Given the description of an element on the screen output the (x, y) to click on. 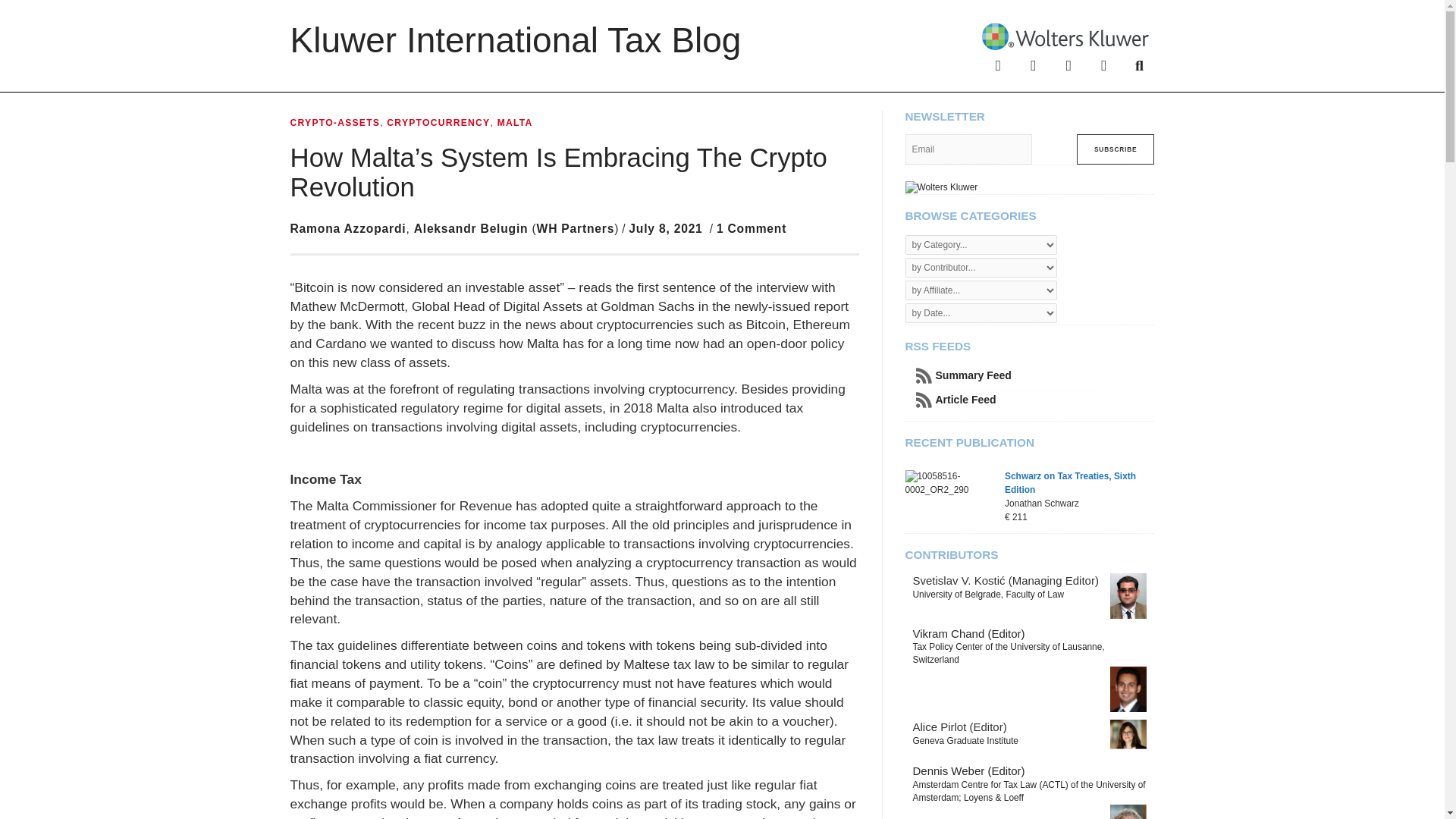
X (1032, 64)
Learn more (941, 185)
July 8, 2021 (664, 228)
Aleksandr Belugin (470, 228)
Kluwer Tax Blog RSS 2.0 Feed (1029, 400)
Wolters Kluwer Home (1064, 34)
Kluwer Tax Blog RSS 2.0 Excerpt Feed (1029, 375)
CRYPTOCURRENCY (438, 122)
Subscribe (1115, 149)
Subscribe (1115, 149)
